Given the description of an element on the screen output the (x, y) to click on. 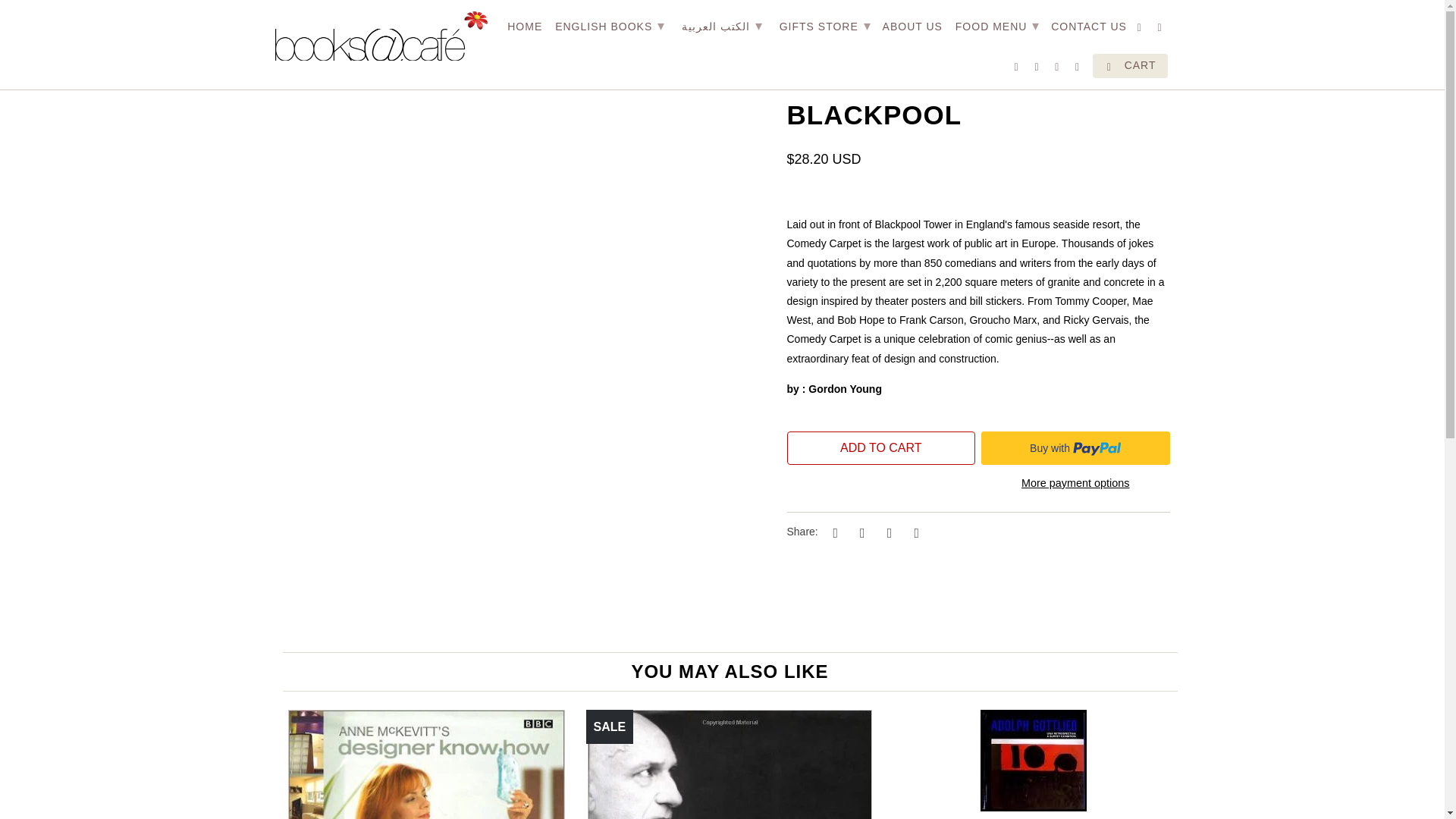
Email this to a friend (914, 531)
Share this on Pinterest (887, 531)
booksatcafe (380, 35)
Products (339, 24)
Share this on Facebook (859, 531)
Share this on Twitter (833, 531)
booksatcafe (288, 24)
